Given the description of an element on the screen output the (x, y) to click on. 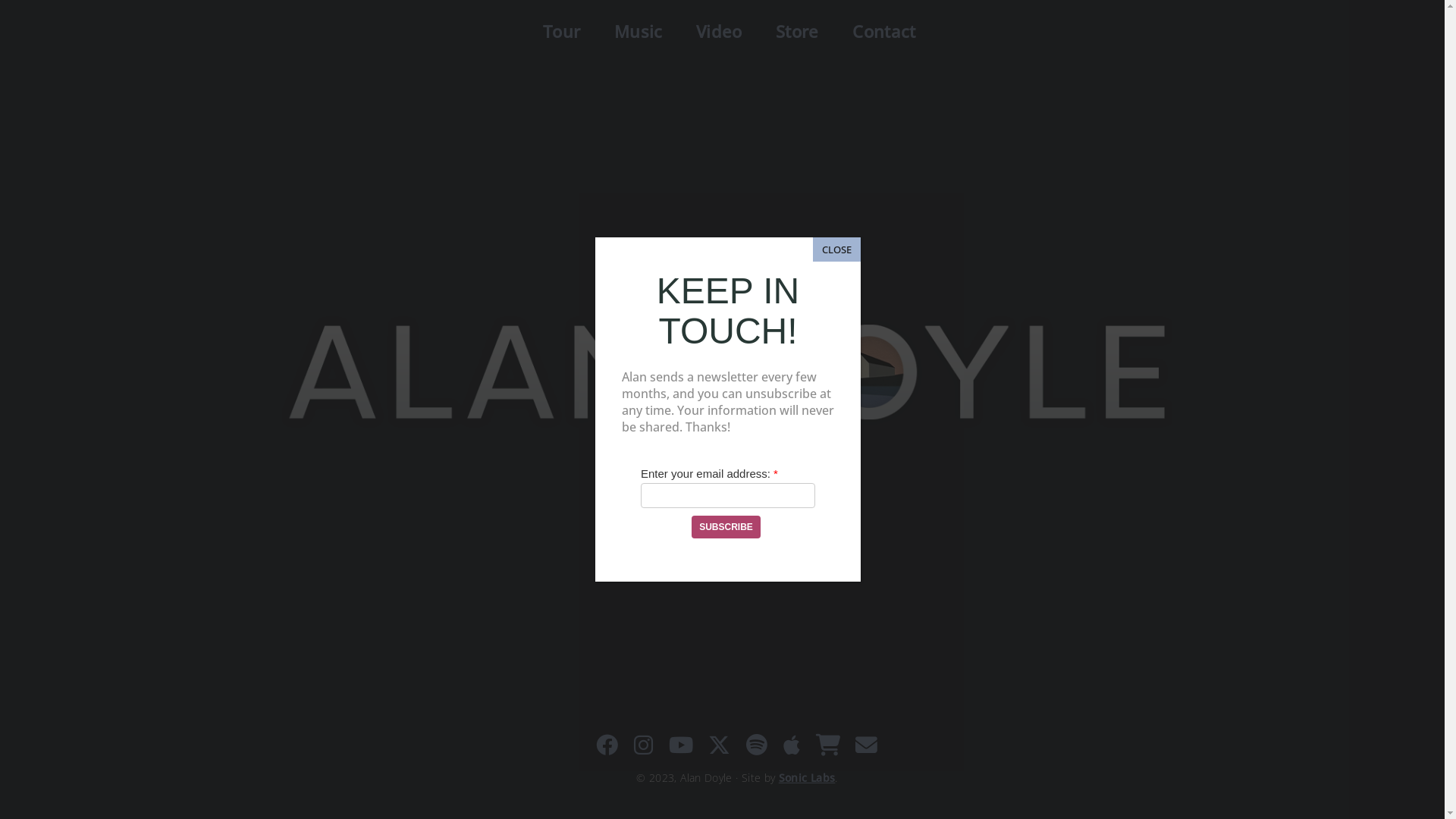
Contact Element type: text (881, 31)
Store Element type: text (795, 31)
Video Element type: text (716, 31)
Sonic Labs Element type: text (806, 777)
Music Element type: text (635, 31)
CLOSE Element type: text (836, 249)
Tour Element type: text (559, 31)
